Given the description of an element on the screen output the (x, y) to click on. 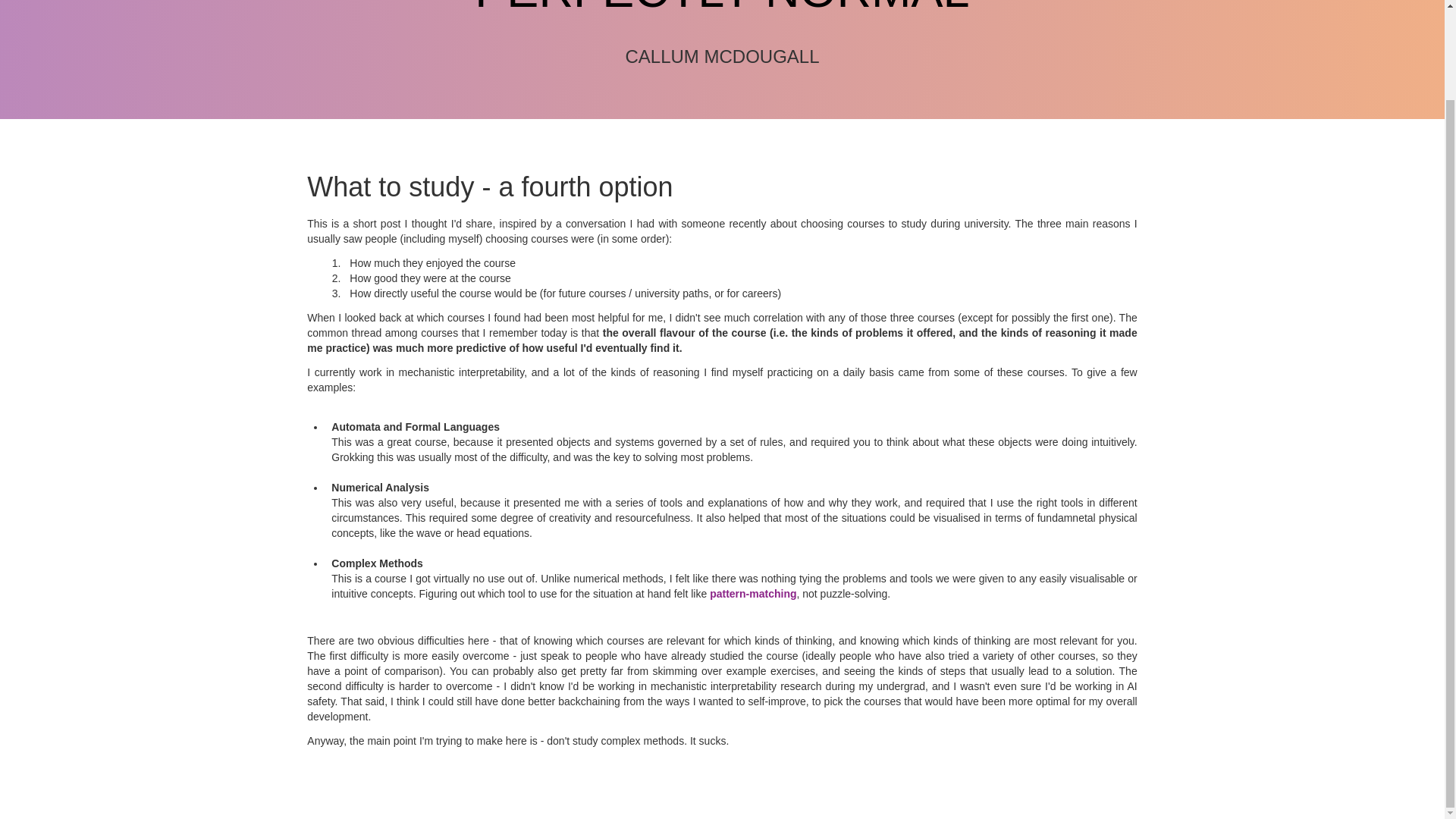
PERFECTLY NORMAL (721, 8)
pattern-matching (753, 593)
